Given the description of an element on the screen output the (x, y) to click on. 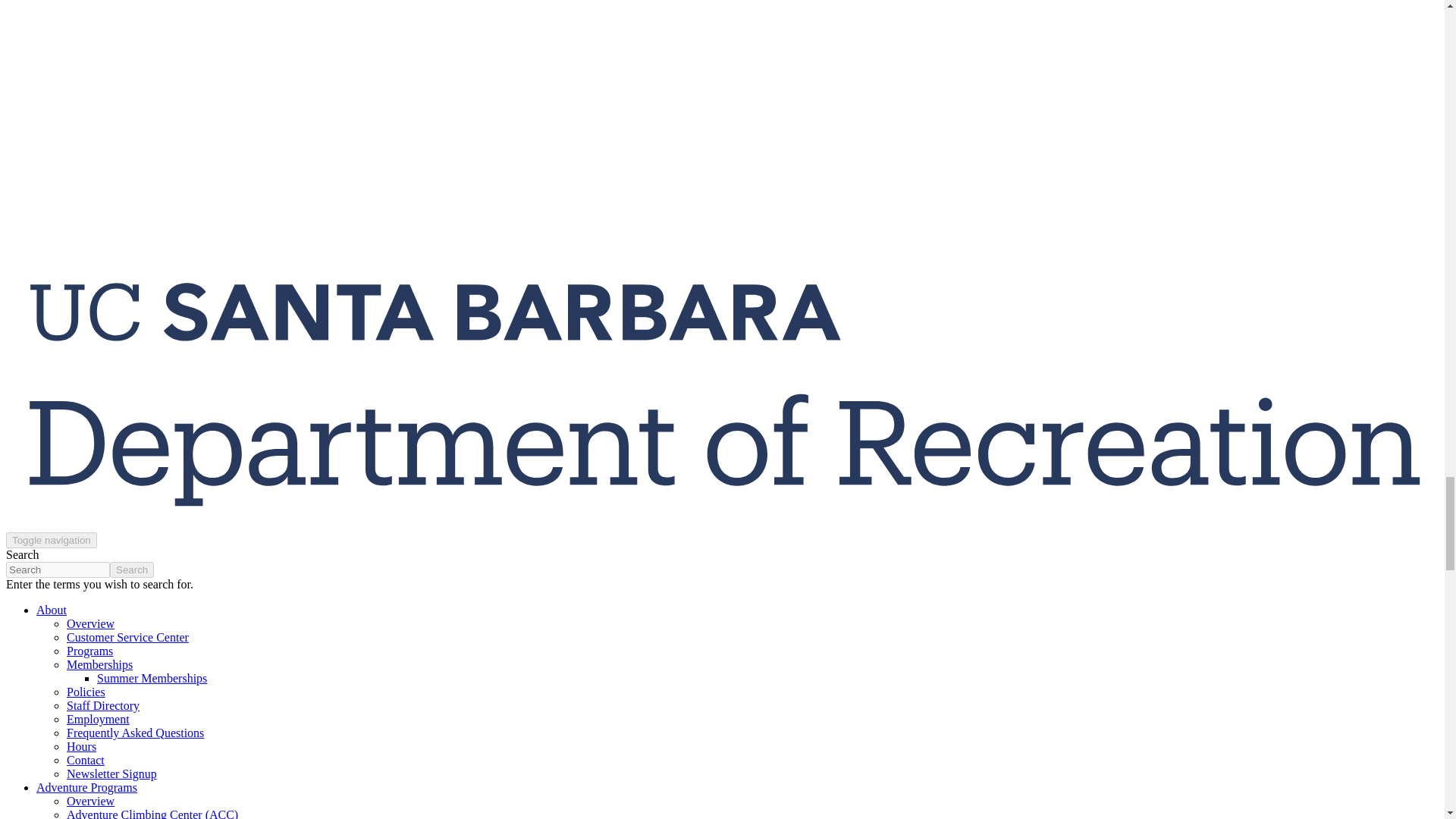
Customer Service Center (127, 636)
Overview (90, 800)
Employment (97, 718)
Hours (81, 746)
Summer Memberships (151, 677)
Frequently Asked Questions (134, 732)
Policies (85, 691)
Staff Directory (102, 705)
Search (132, 569)
Programs (89, 650)
